Given the description of an element on the screen output the (x, y) to click on. 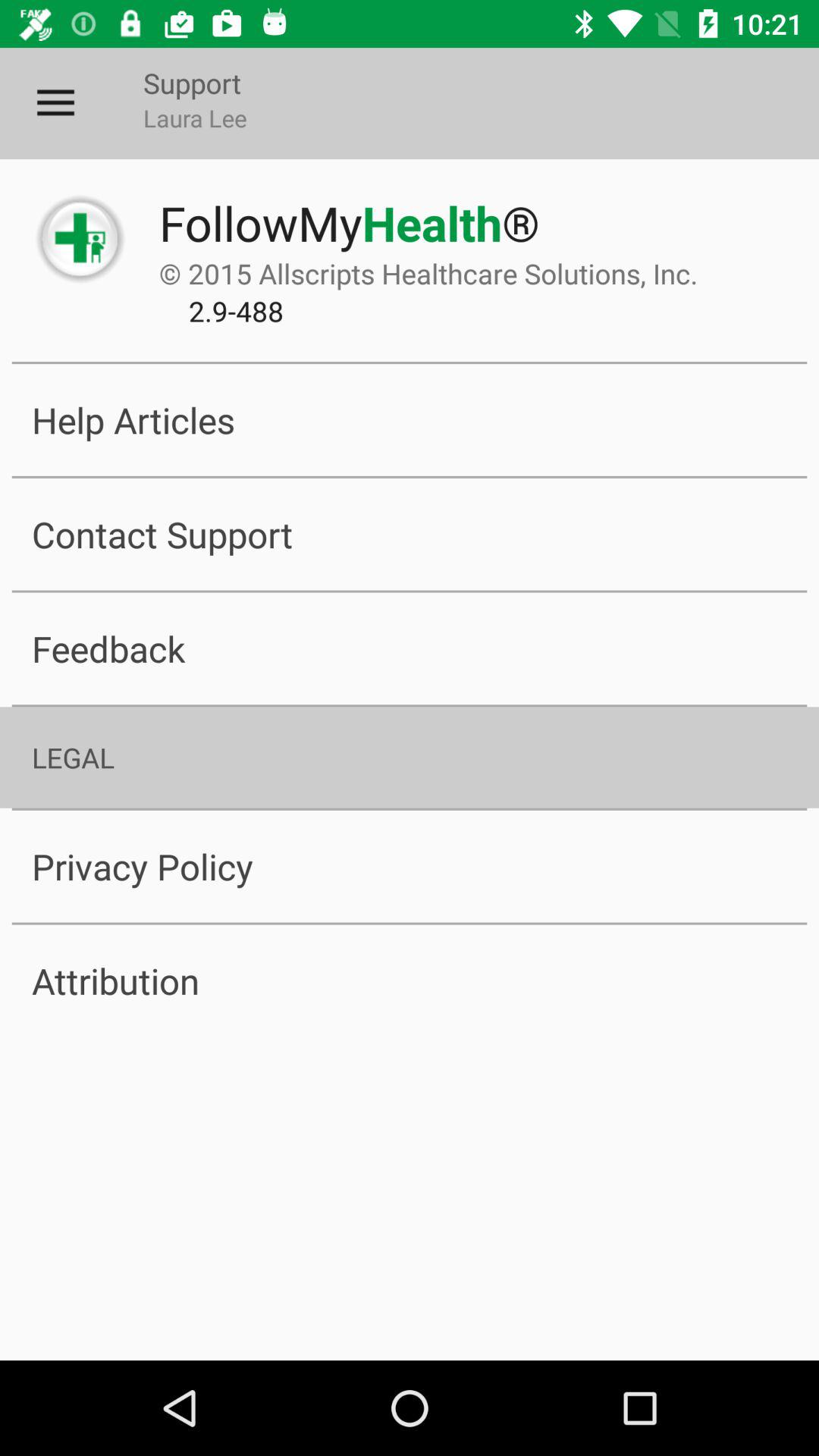
click the item above privacy policy (409, 757)
